Given the description of an element on the screen output the (x, y) to click on. 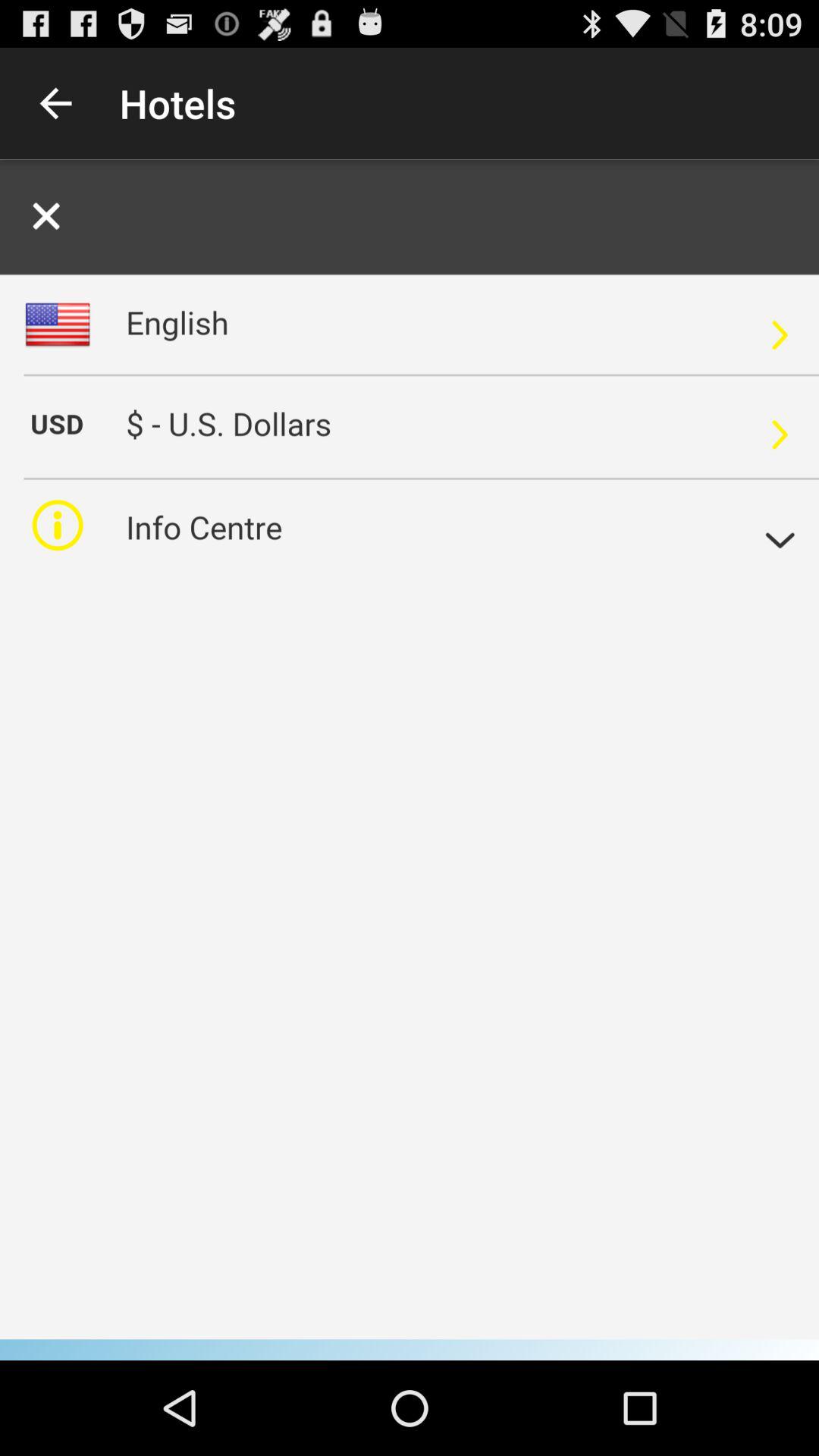
click entire workspace (409, 759)
